Given the description of an element on the screen output the (x, y) to click on. 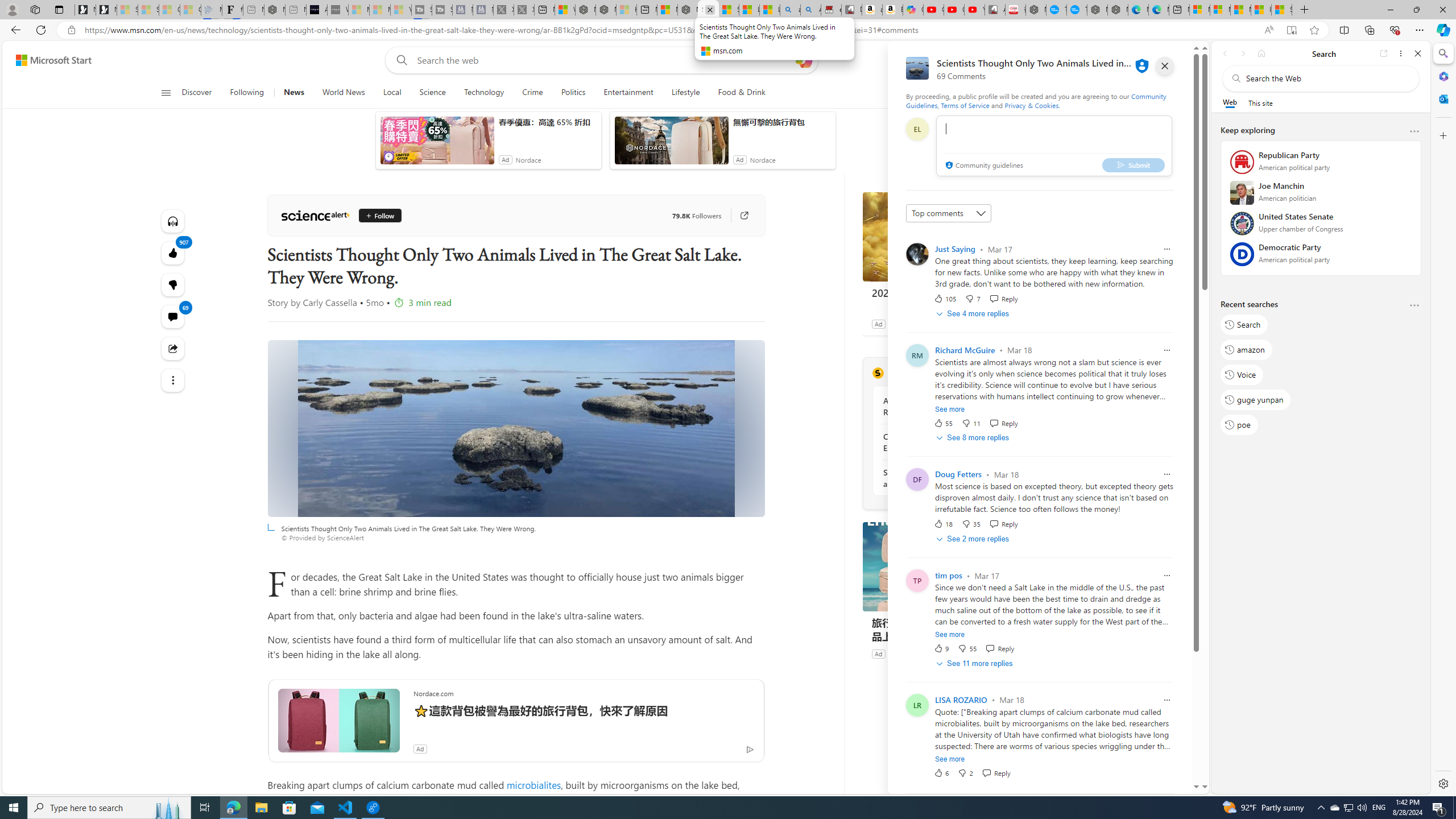
Richard McGuire (964, 349)
News (293, 92)
Community Guidelines (1035, 100)
Local (391, 92)
Profile Picture (916, 704)
Open Copilot (803, 59)
X - Sleeping (523, 9)
See more (949, 758)
Split screen (1344, 29)
Voice (1241, 374)
Forward (1242, 53)
